Given the description of an element on the screen output the (x, y) to click on. 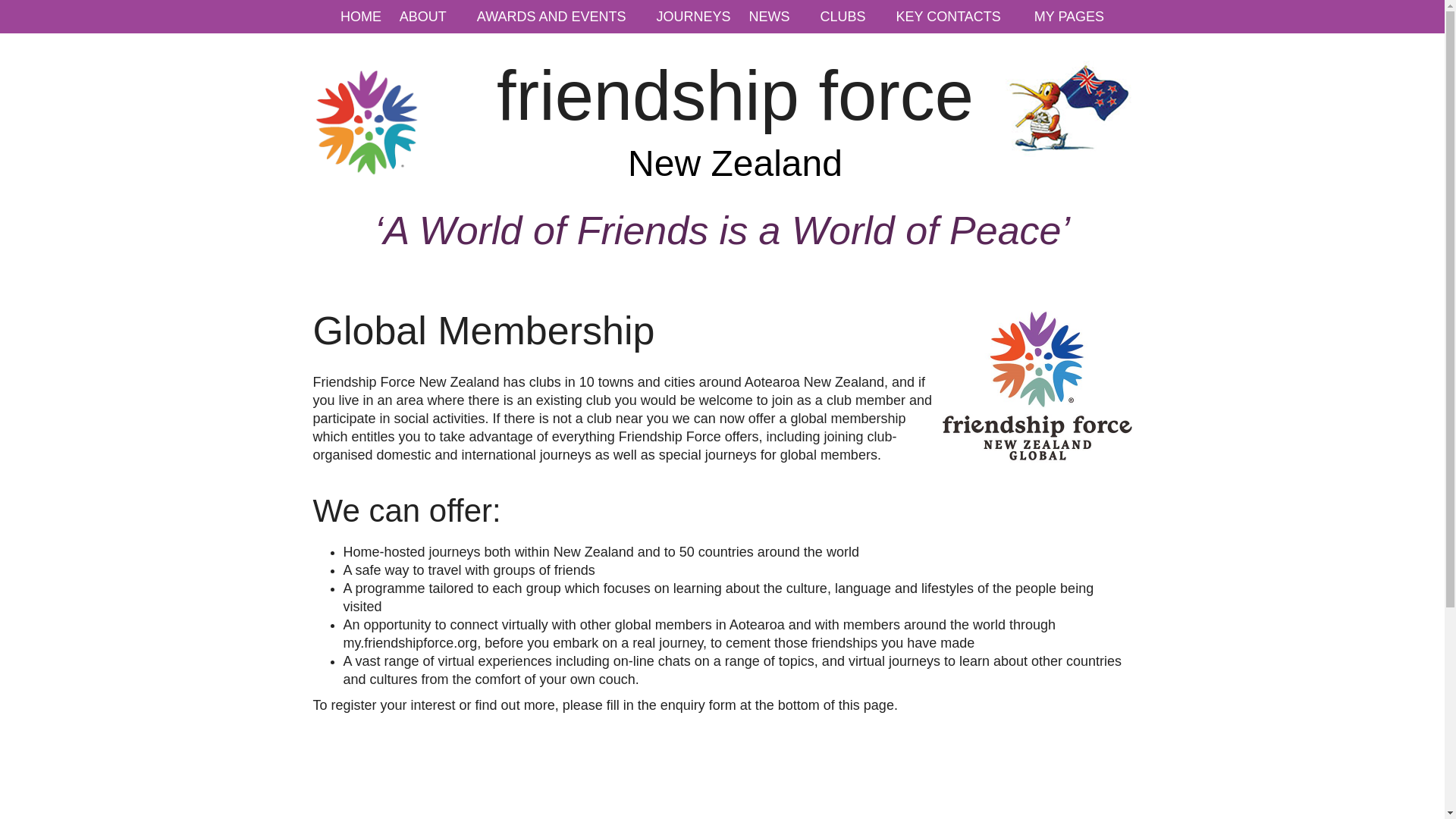
MY PAGES (1069, 16)
JOURNEYS (693, 16)
HOME (360, 16)
